Given the description of an element on the screen output the (x, y) to click on. 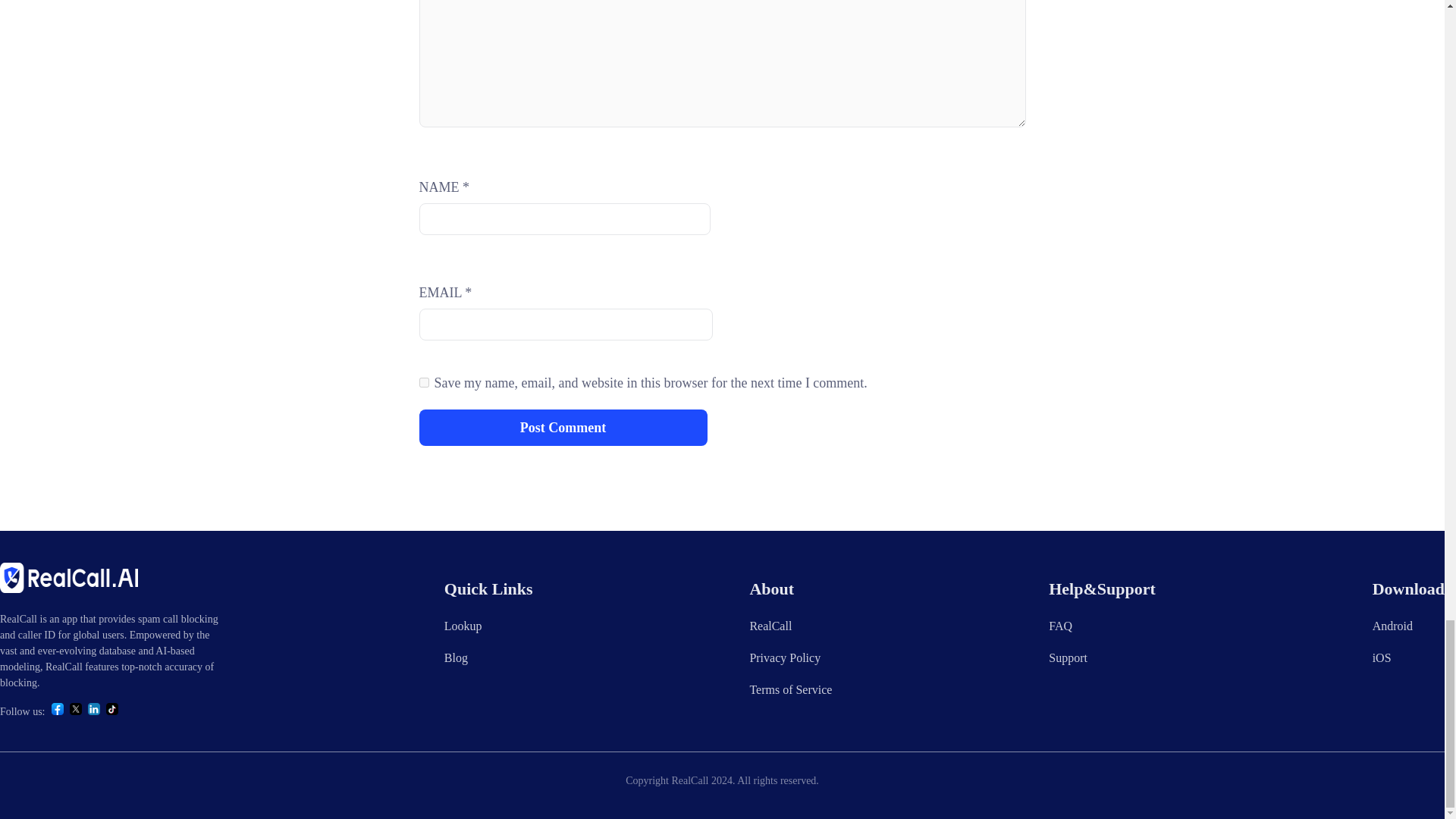
FAQ (1059, 625)
Lookup (462, 625)
iOS (1382, 657)
yes (423, 382)
Post Comment (562, 427)
RealCall (770, 625)
Terms of Service (790, 689)
Android (1392, 625)
Lookup (462, 625)
Privacy Policy (785, 657)
Blog (455, 657)
Post Comment (562, 427)
Blog (455, 657)
Support (1067, 657)
RealCall (770, 625)
